Given the description of an element on the screen output the (x, y) to click on. 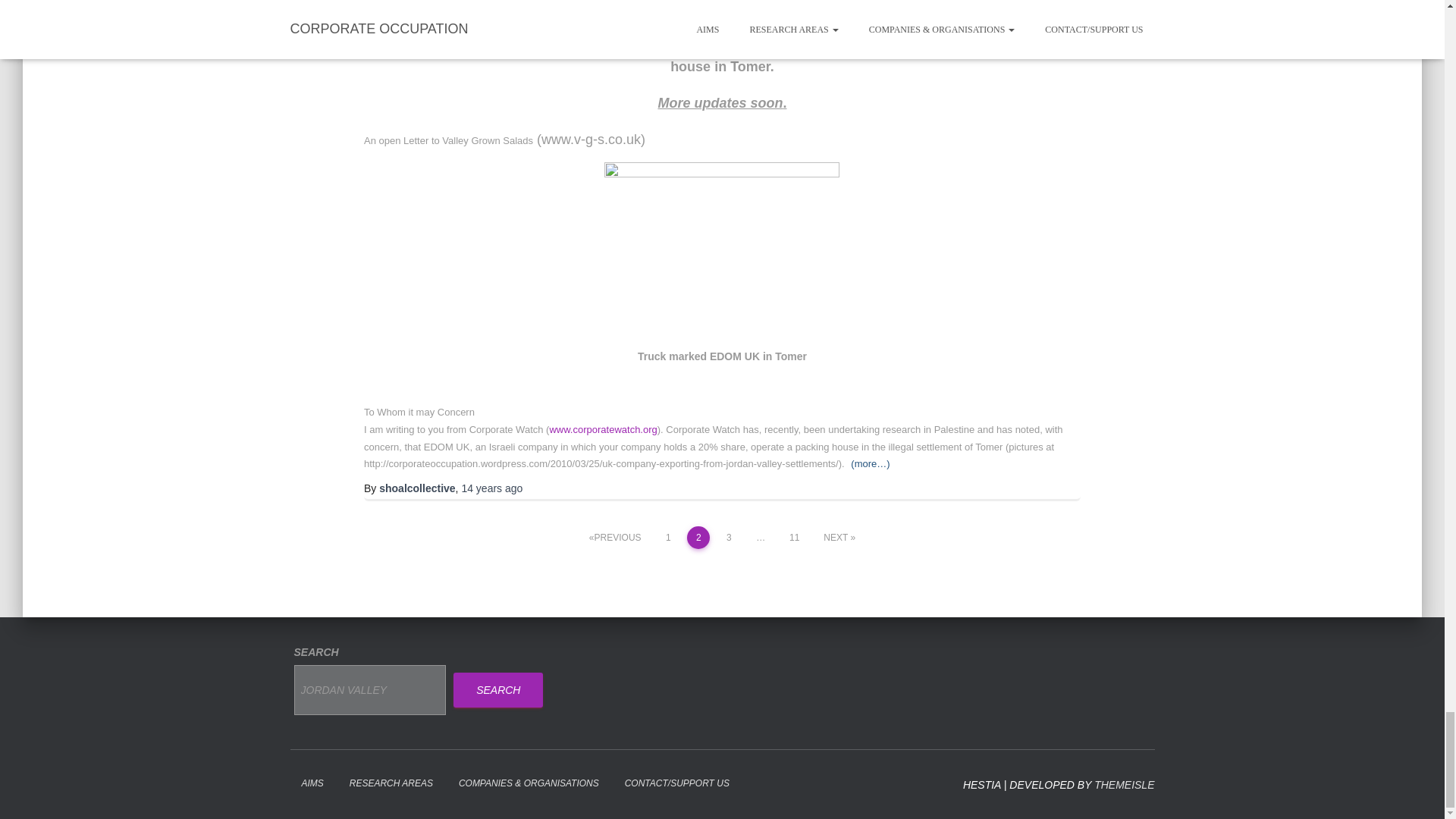
Jordan Valley (370, 690)
Jordan Valley (370, 690)
